Given the description of an element on the screen output the (x, y) to click on. 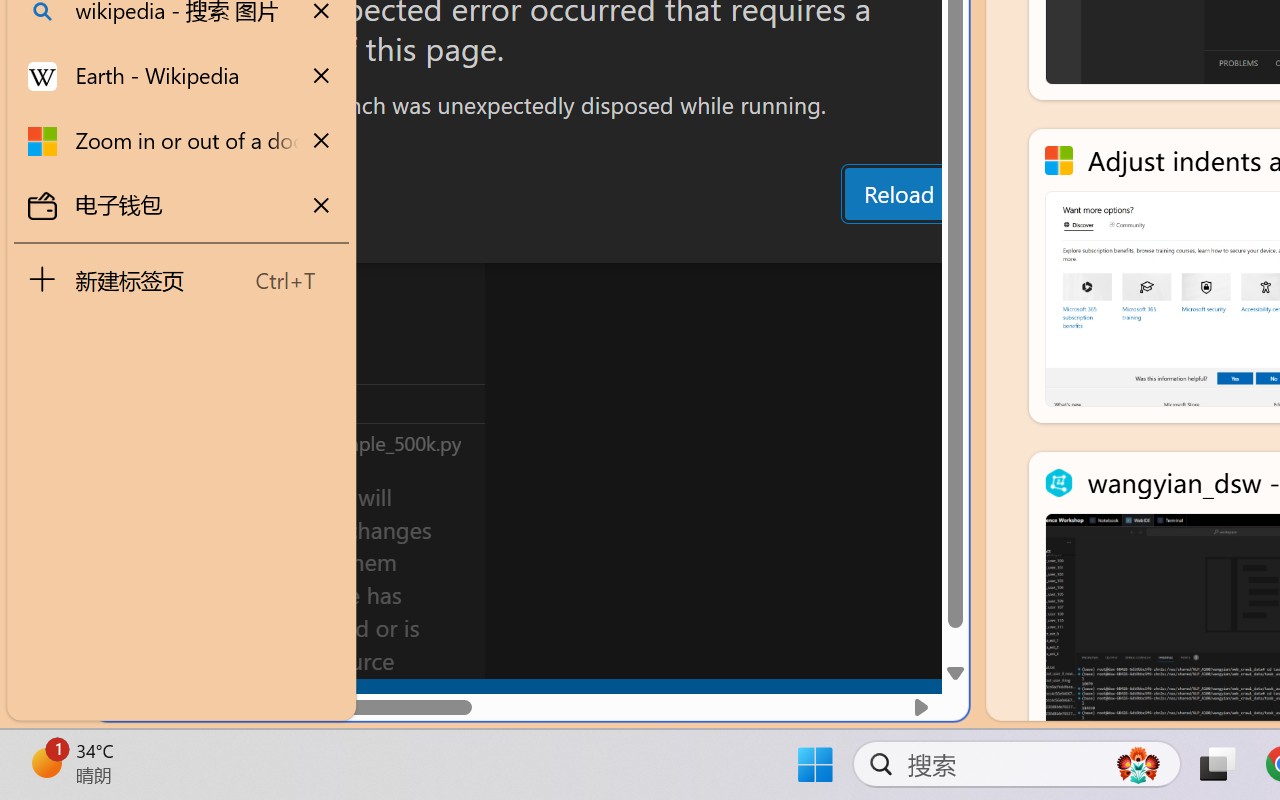
Outline Section (331, 403)
Problems (Ctrl+Shift+M) (567, 243)
Timeline Section (331, 442)
Manage (135, 591)
Accounts - Sign in requested (135, 548)
